Given the description of an element on the screen output the (x, y) to click on. 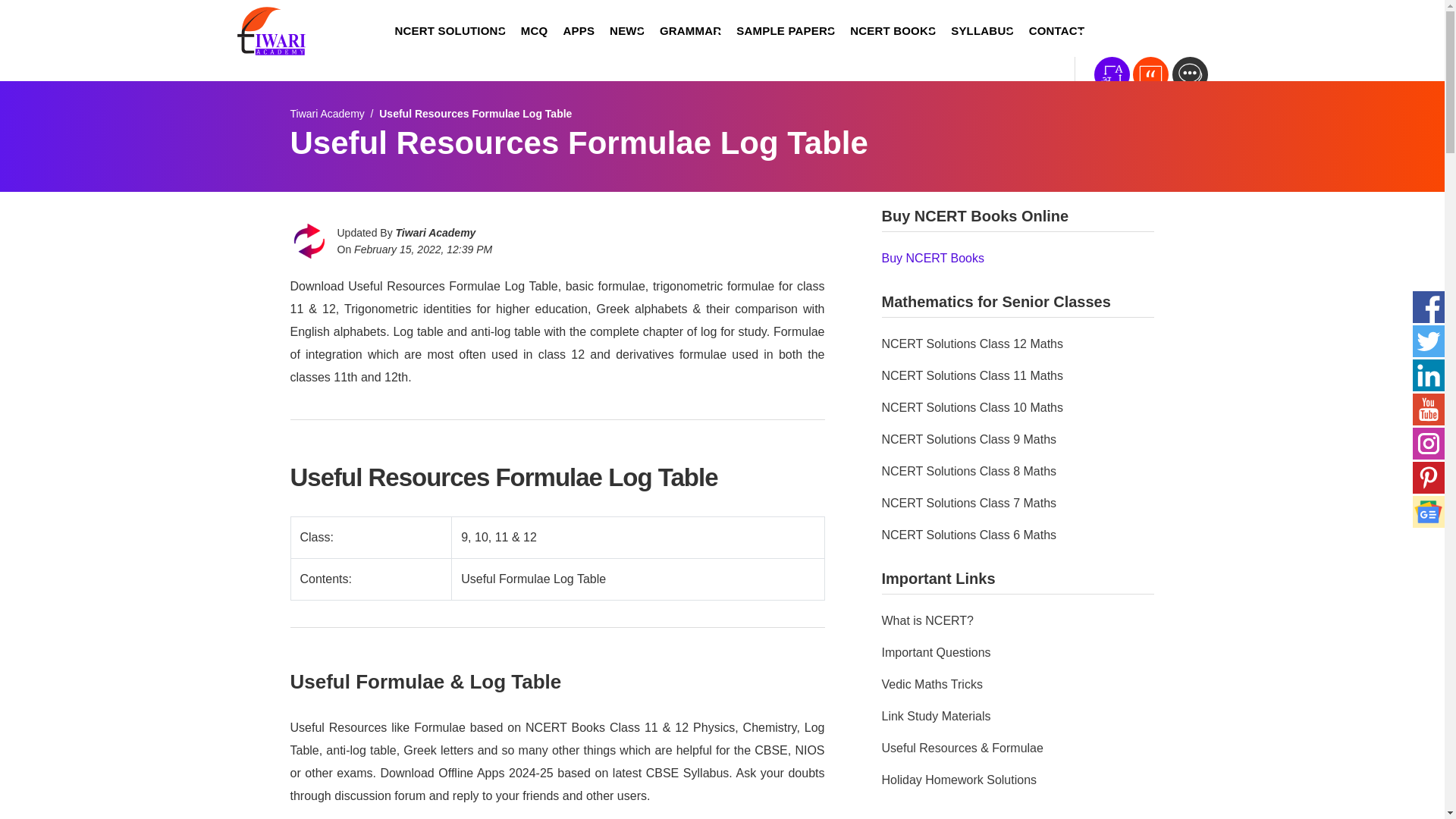
Back to top (1414, 780)
Tiwari Academy  - Free CBSE NCERT Books and Solutions (326, 113)
NCERT SOLUTIONS (449, 30)
